Given the description of an element on the screen output the (x, y) to click on. 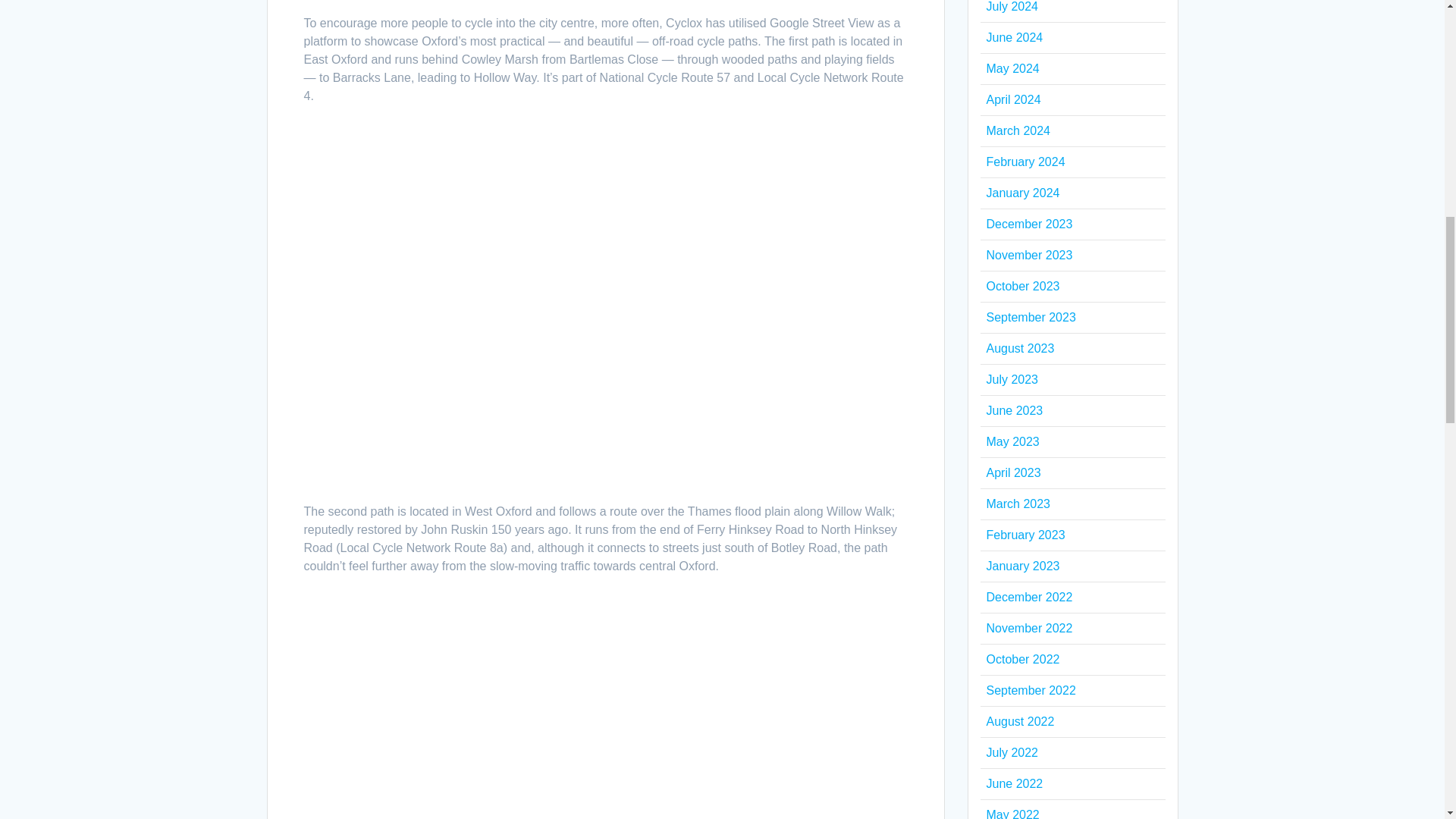
May 2024 (1012, 68)
March 2024 (1017, 130)
February 2024 (1024, 161)
April 2024 (1013, 99)
June 2024 (1013, 37)
July 2024 (1011, 6)
December 2023 (1028, 223)
January 2024 (1022, 192)
